Given the description of an element on the screen output the (x, y) to click on. 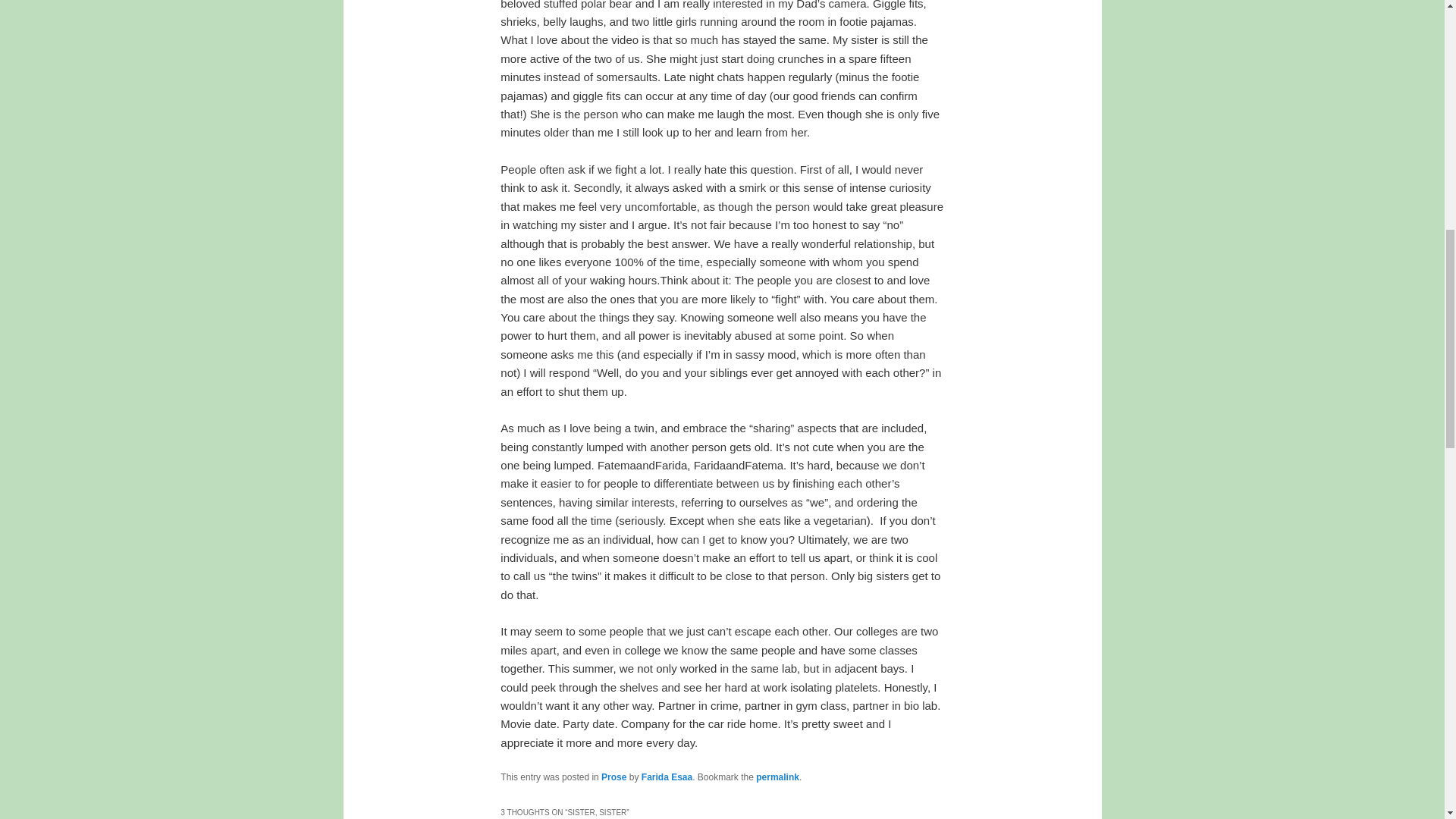
Prose (613, 777)
permalink (777, 777)
Farida Esaa (667, 777)
Permalink to Sister, Sister (777, 777)
